Given the description of an element on the screen output the (x, y) to click on. 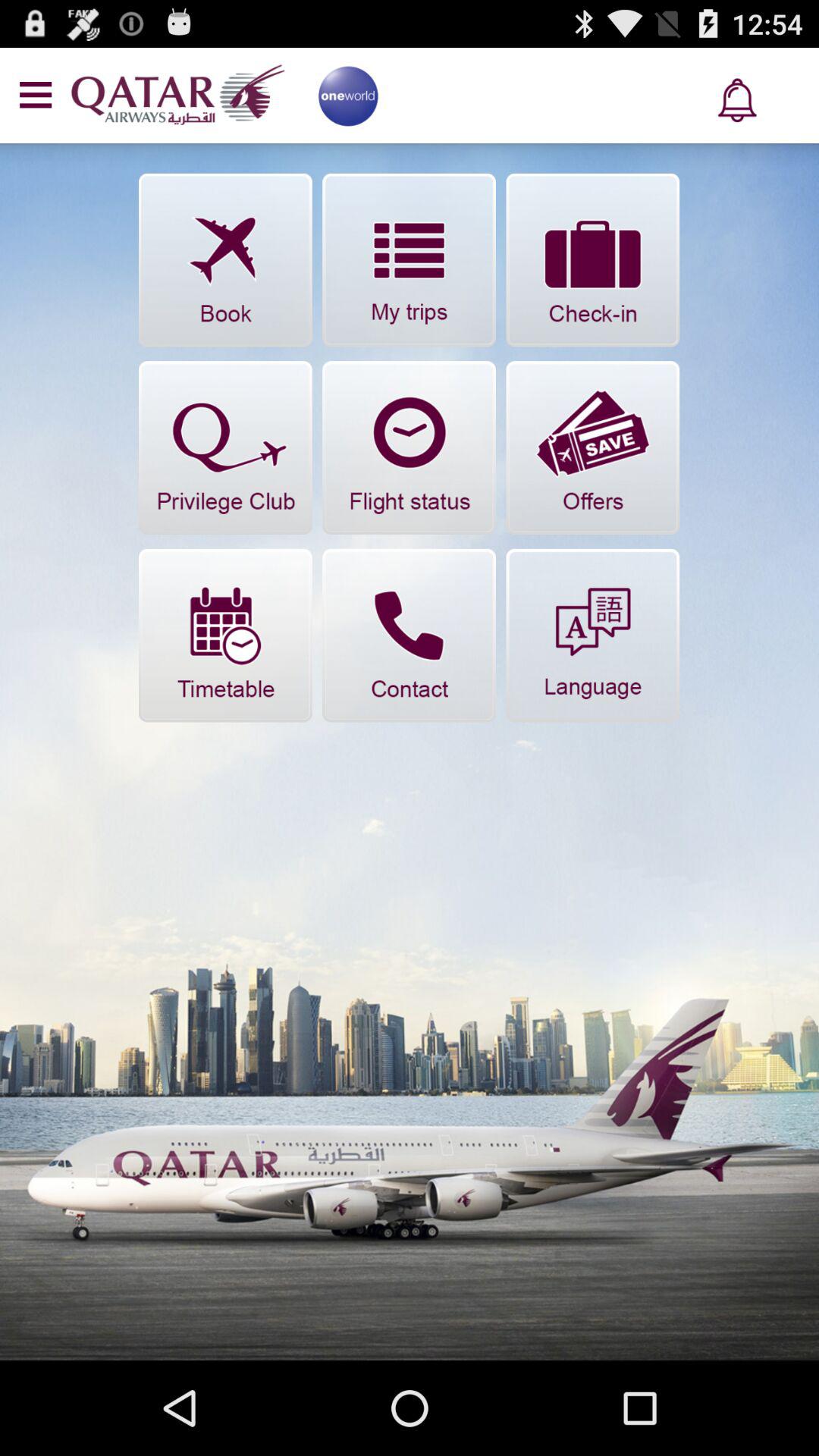
check in to your flight (592, 259)
